Given the description of an element on the screen output the (x, y) to click on. 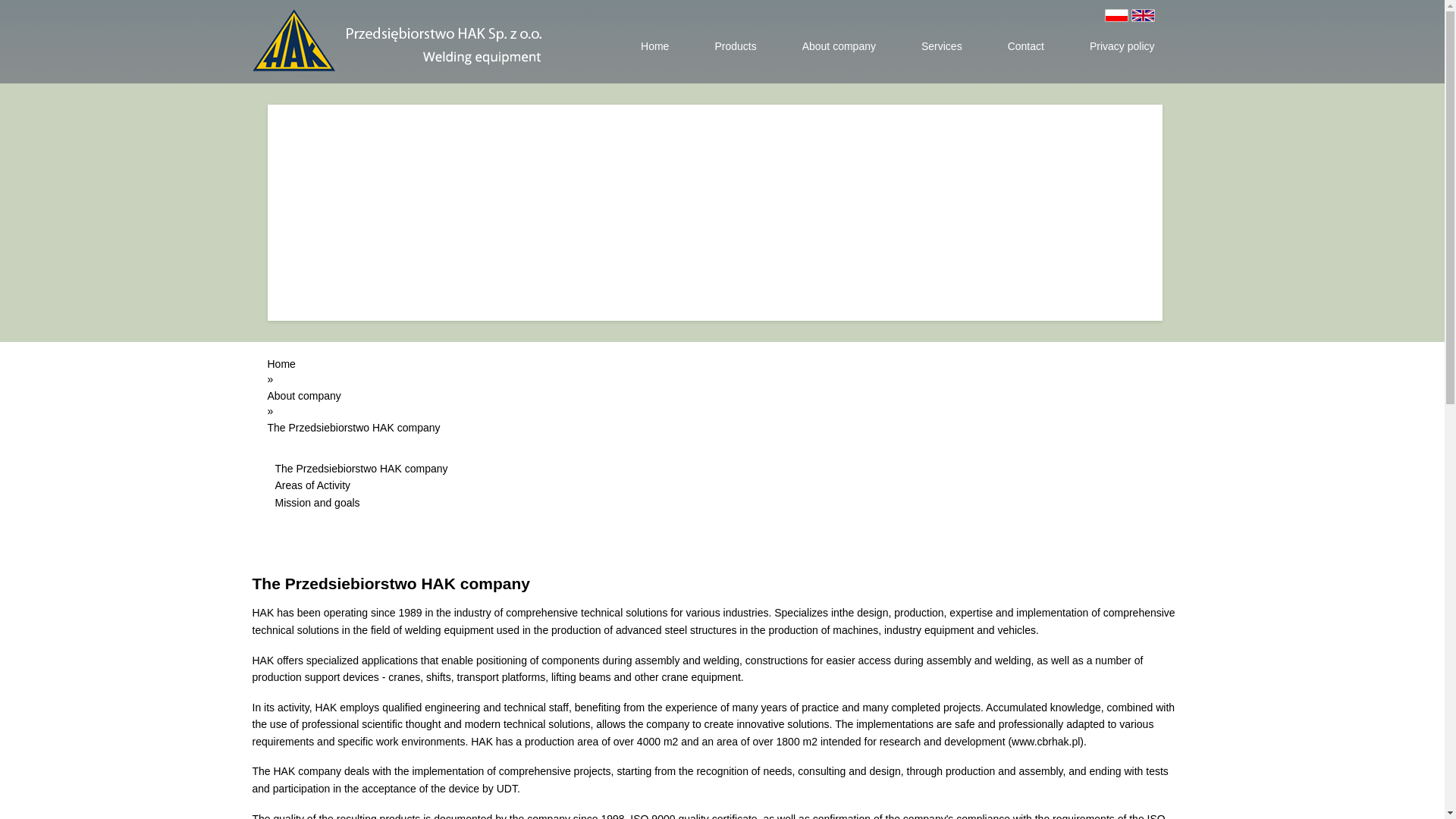
Mission and goals (317, 502)
About company (838, 46)
Services (941, 46)
Services (941, 46)
Privacy policy (1122, 46)
Contact (1026, 46)
About company (303, 395)
Home (280, 363)
Products (734, 46)
Home (654, 46)
